Given the description of an element on the screen output the (x, y) to click on. 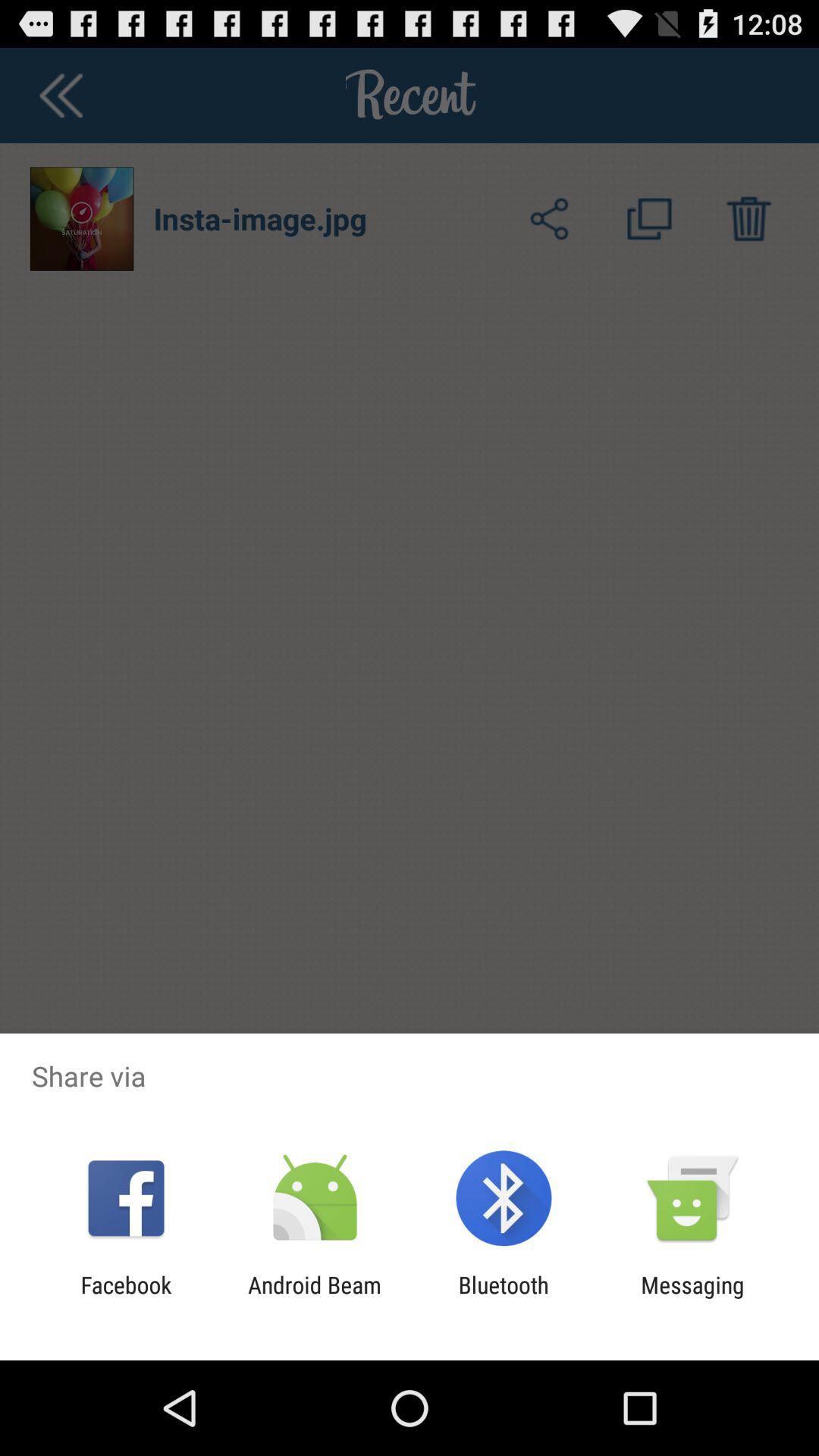
flip to the bluetooth icon (503, 1298)
